Given the description of an element on the screen output the (x, y) to click on. 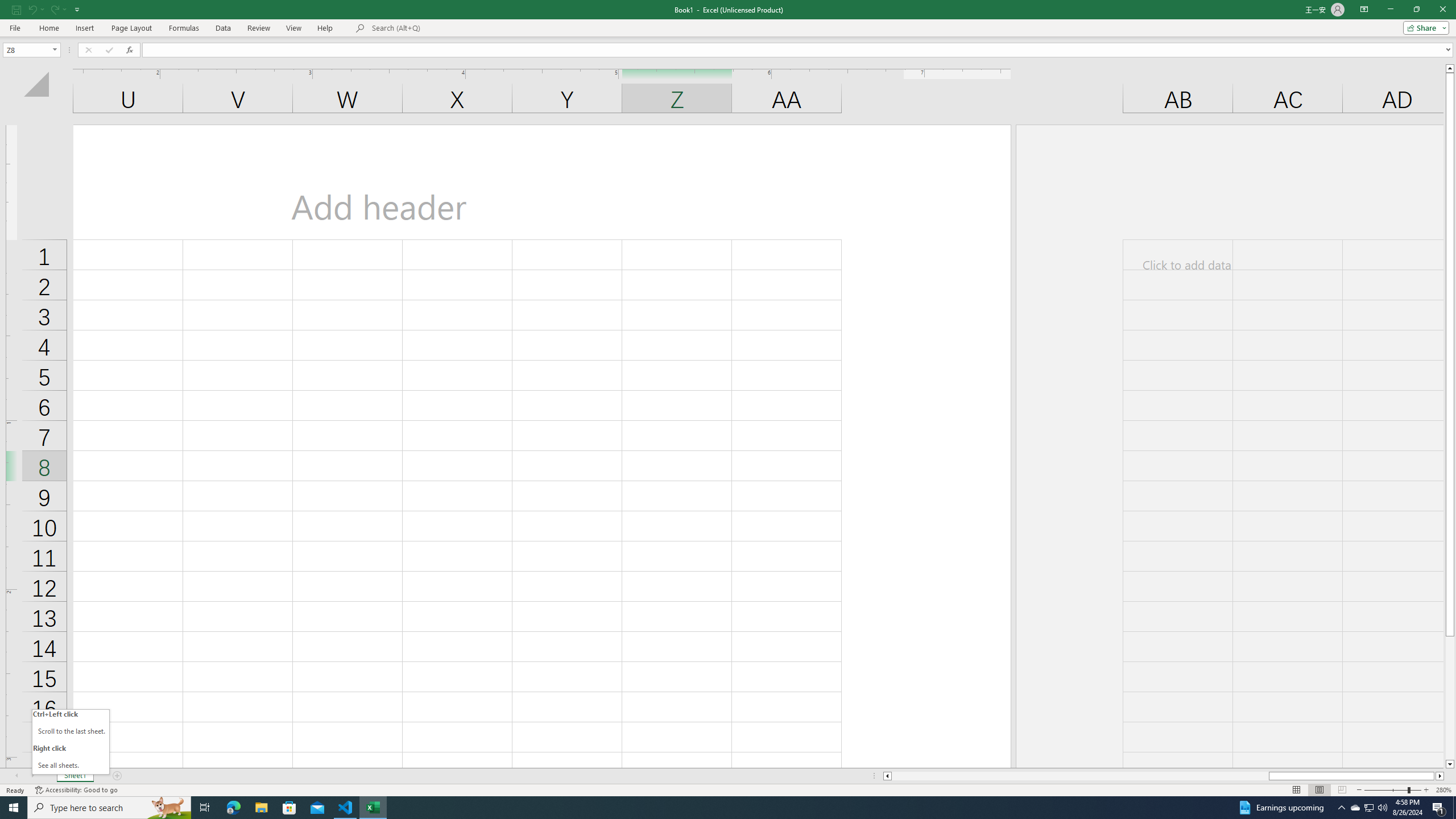
Sheet Tab (74, 775)
